Given the description of an element on the screen output the (x, y) to click on. 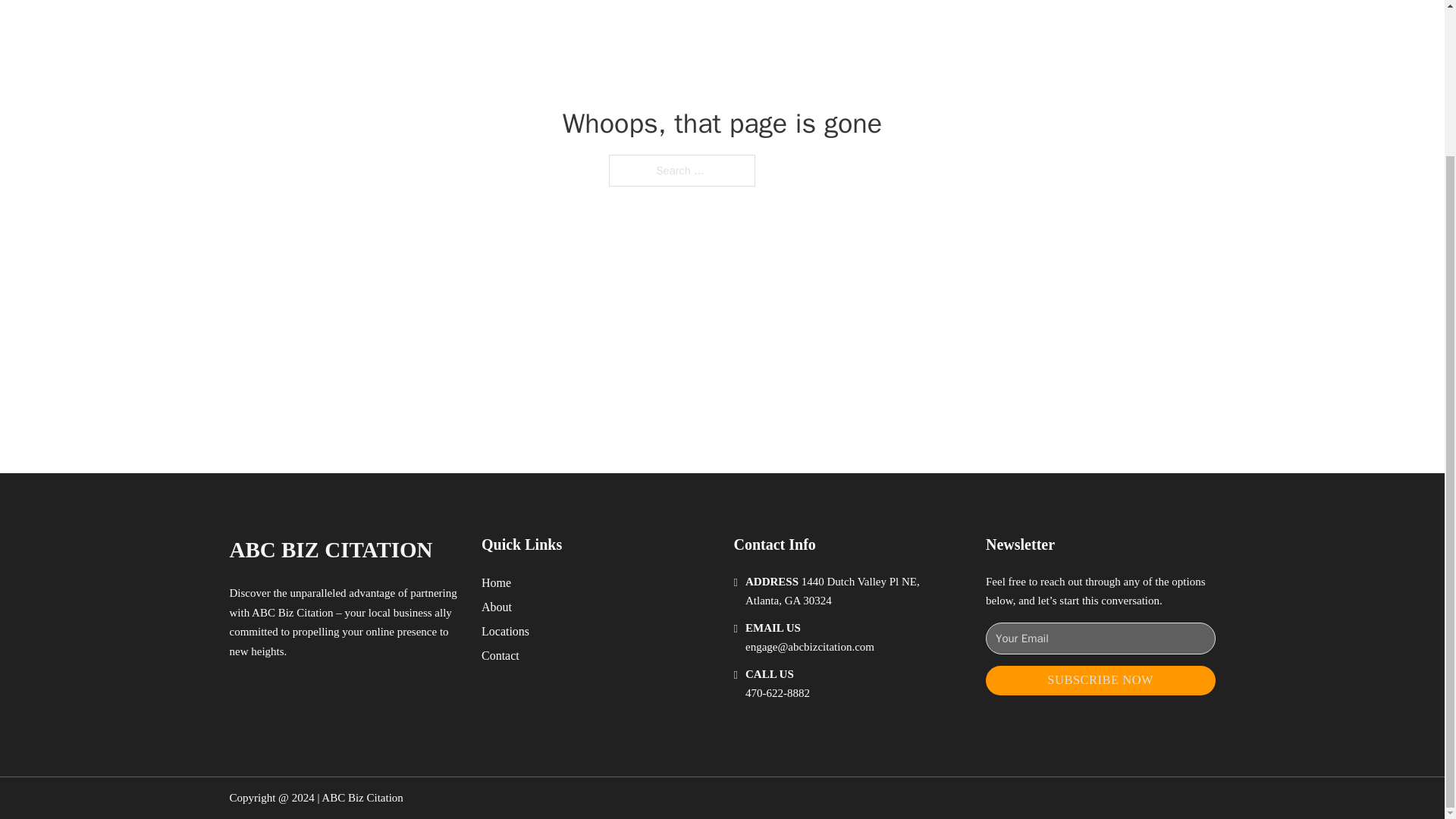
Locations (505, 630)
Home (496, 582)
About (496, 607)
470-622-8882 (777, 693)
SUBSCRIBE NOW (1100, 680)
Contact (500, 655)
ABC BIZ CITATION (330, 549)
